Given the description of an element on the screen output the (x, y) to click on. 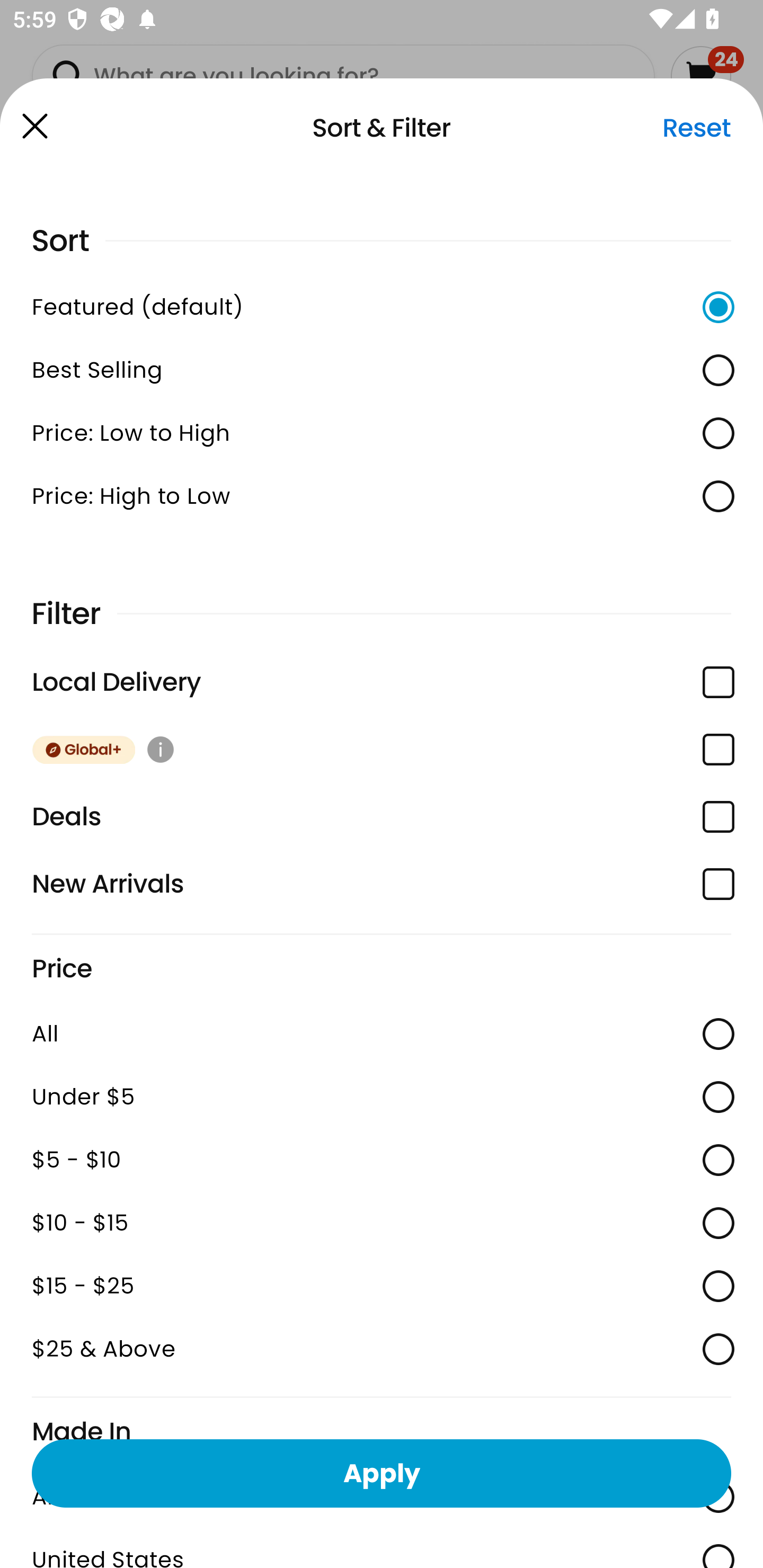
Reset (696, 127)
Apply (381, 1472)
